Given the description of an element on the screen output the (x, y) to click on. 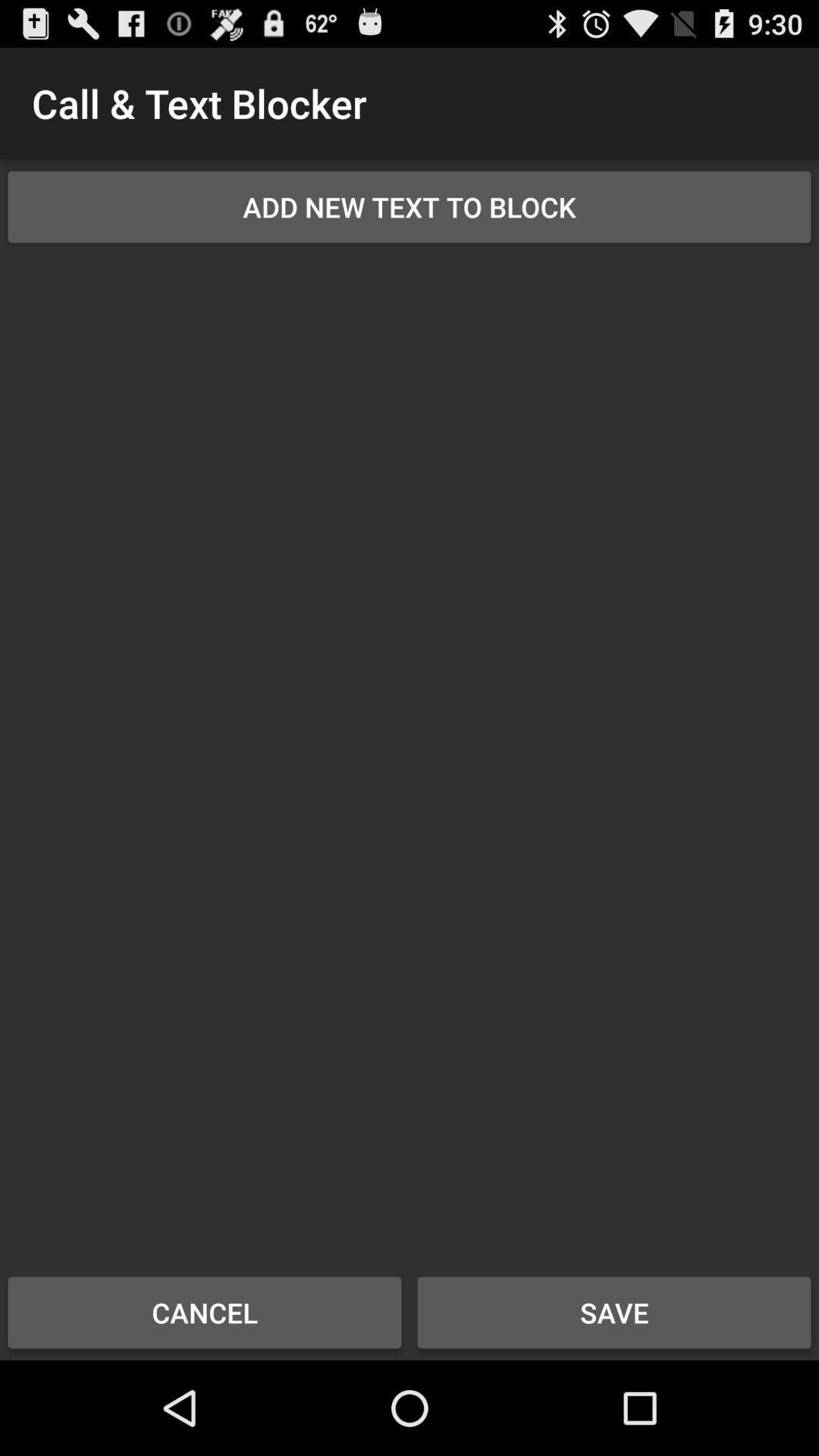
press the icon above the cancel button (409, 749)
